Given the description of an element on the screen output the (x, y) to click on. 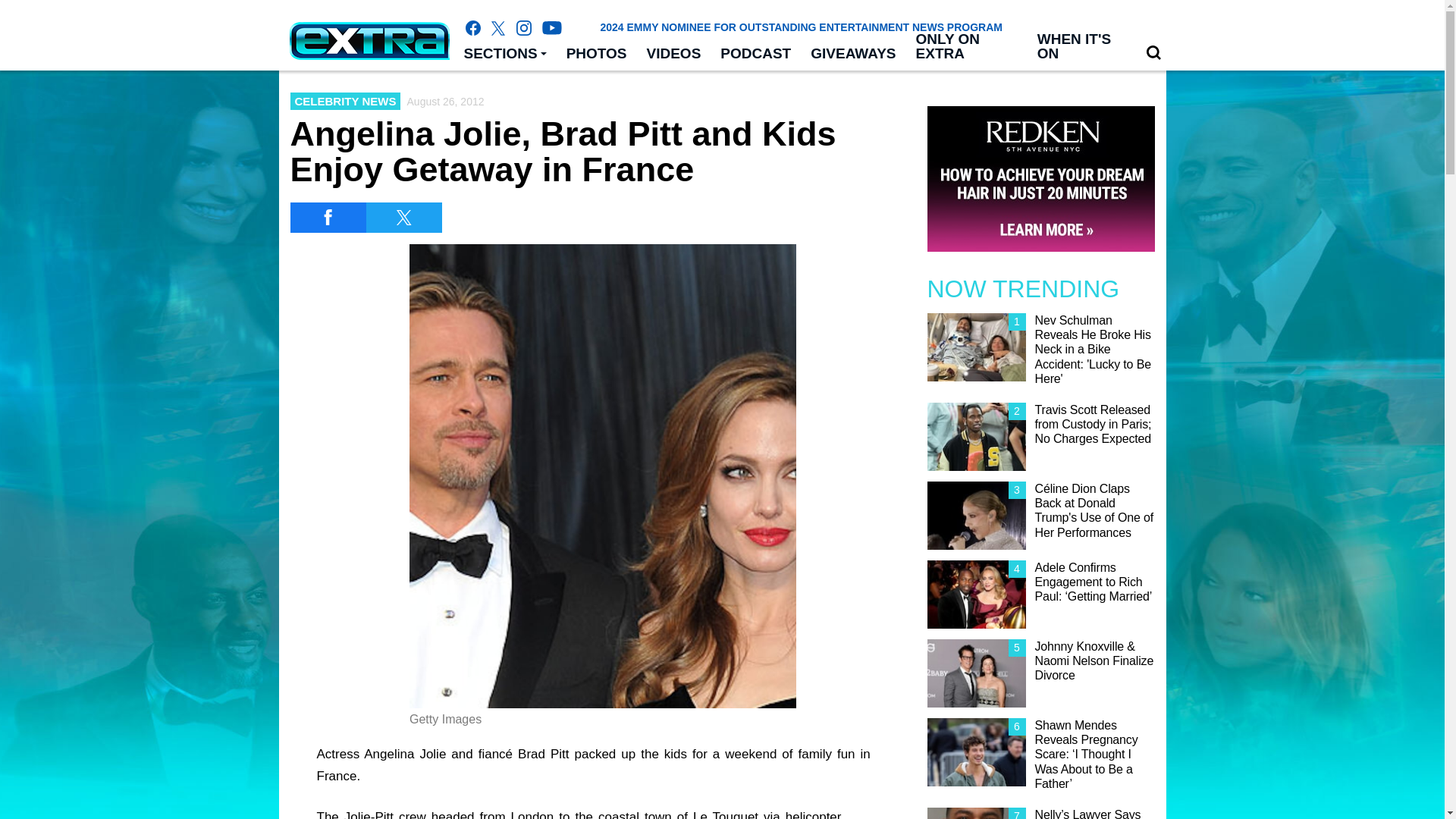
VIDEOS (674, 54)
PHOTOS (596, 54)
CELEBRITY NEWS (344, 100)
Search (1153, 53)
WHEN IT'S ON (1080, 47)
GIVEAWAYS (852, 54)
Search (1153, 52)
PODCAST (755, 54)
SECTIONS (504, 54)
